Given the description of an element on the screen output the (x, y) to click on. 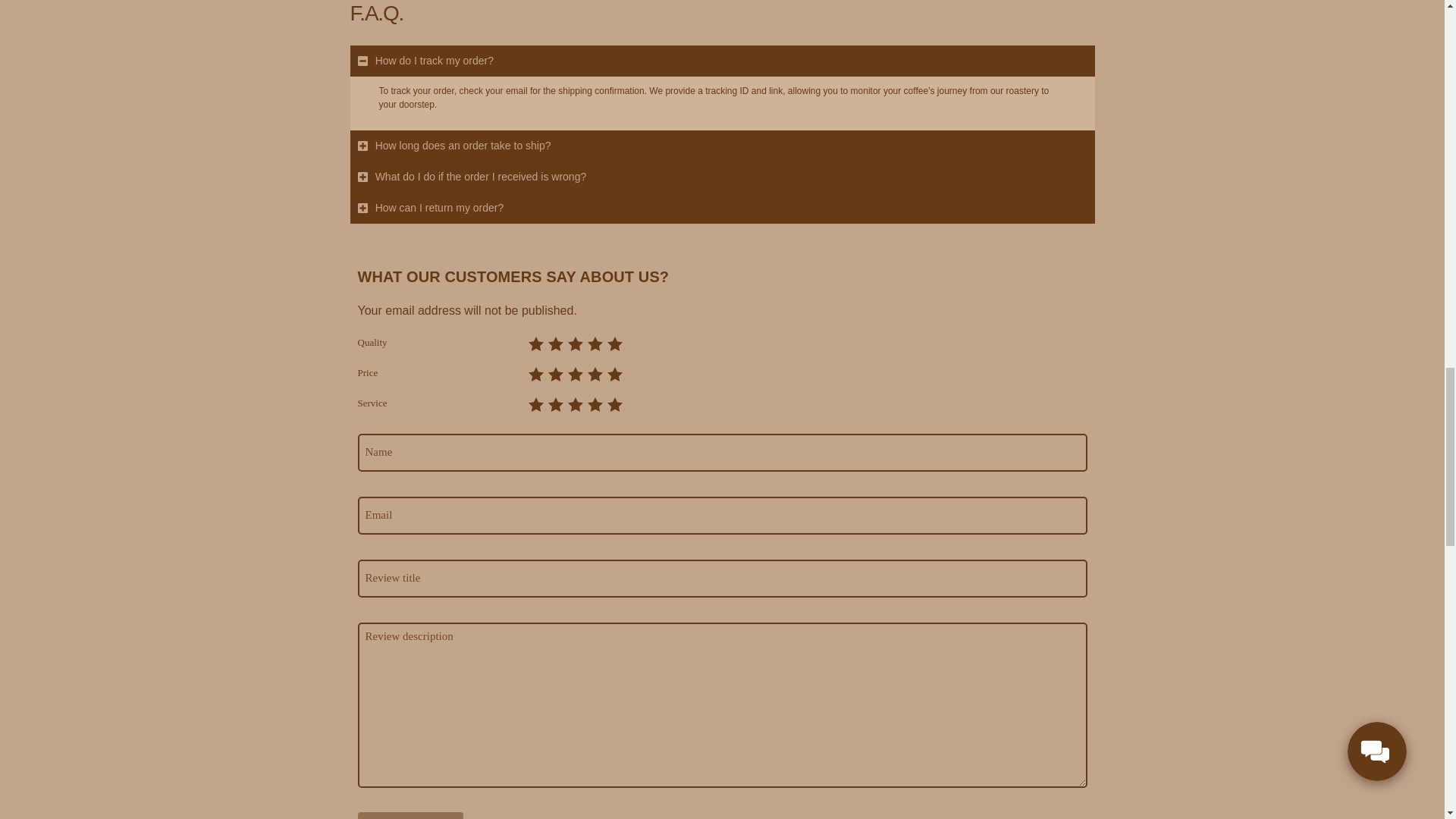
1 (530, 339)
5 (530, 400)
Outstanding (614, 343)
Very Poor (535, 343)
Outstanding (614, 374)
1 (530, 370)
Very Good (595, 343)
Very Good (595, 374)
Submit (410, 815)
4 (530, 400)
2 (530, 400)
Good (575, 374)
2 (530, 339)
3 (530, 400)
4 (530, 339)
